Given the description of an element on the screen output the (x, y) to click on. 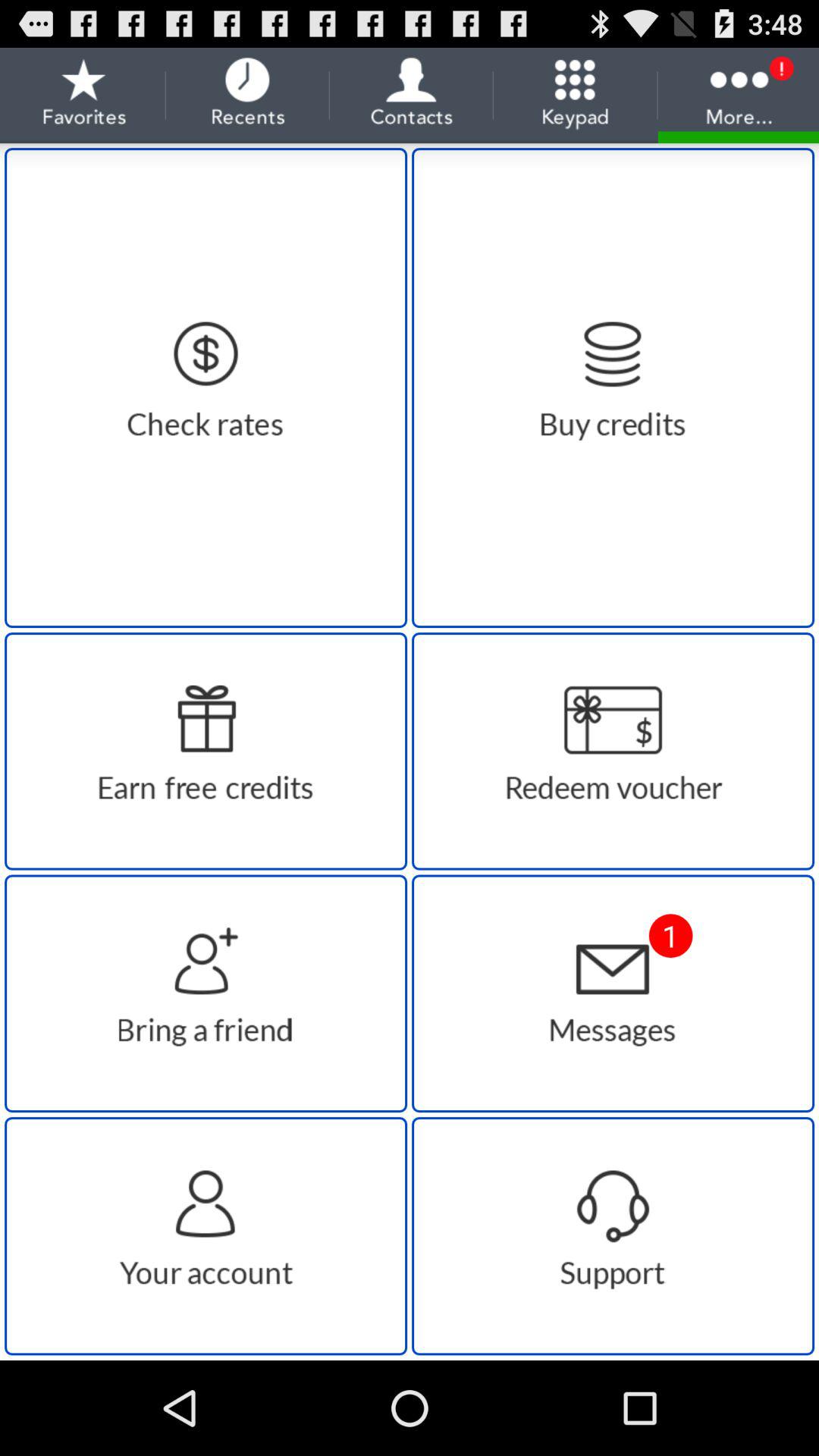
contact support (612, 1236)
